Given the description of an element on the screen output the (x, y) to click on. 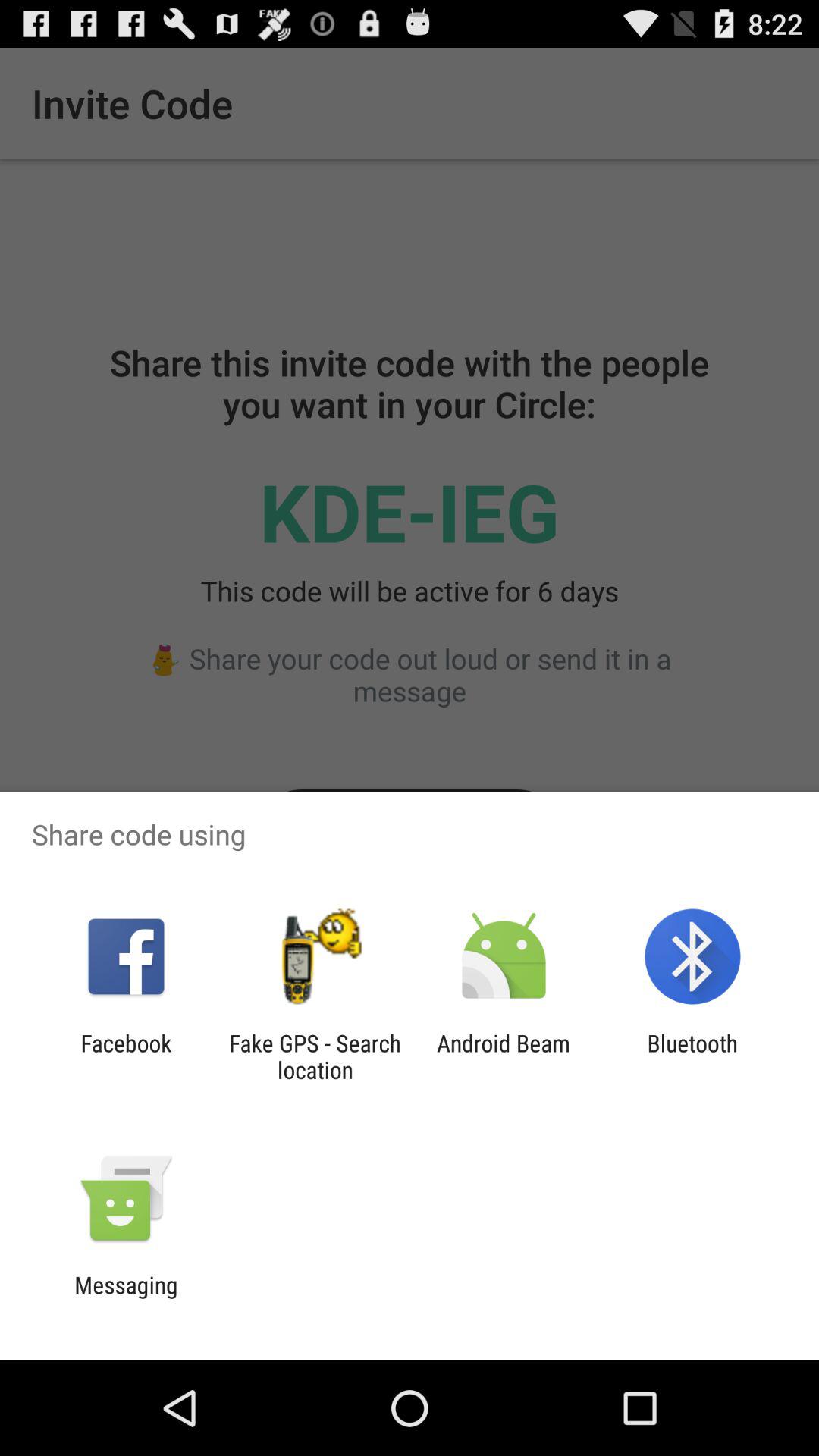
jump until the facebook item (125, 1056)
